Given the description of an element on the screen output the (x, y) to click on. 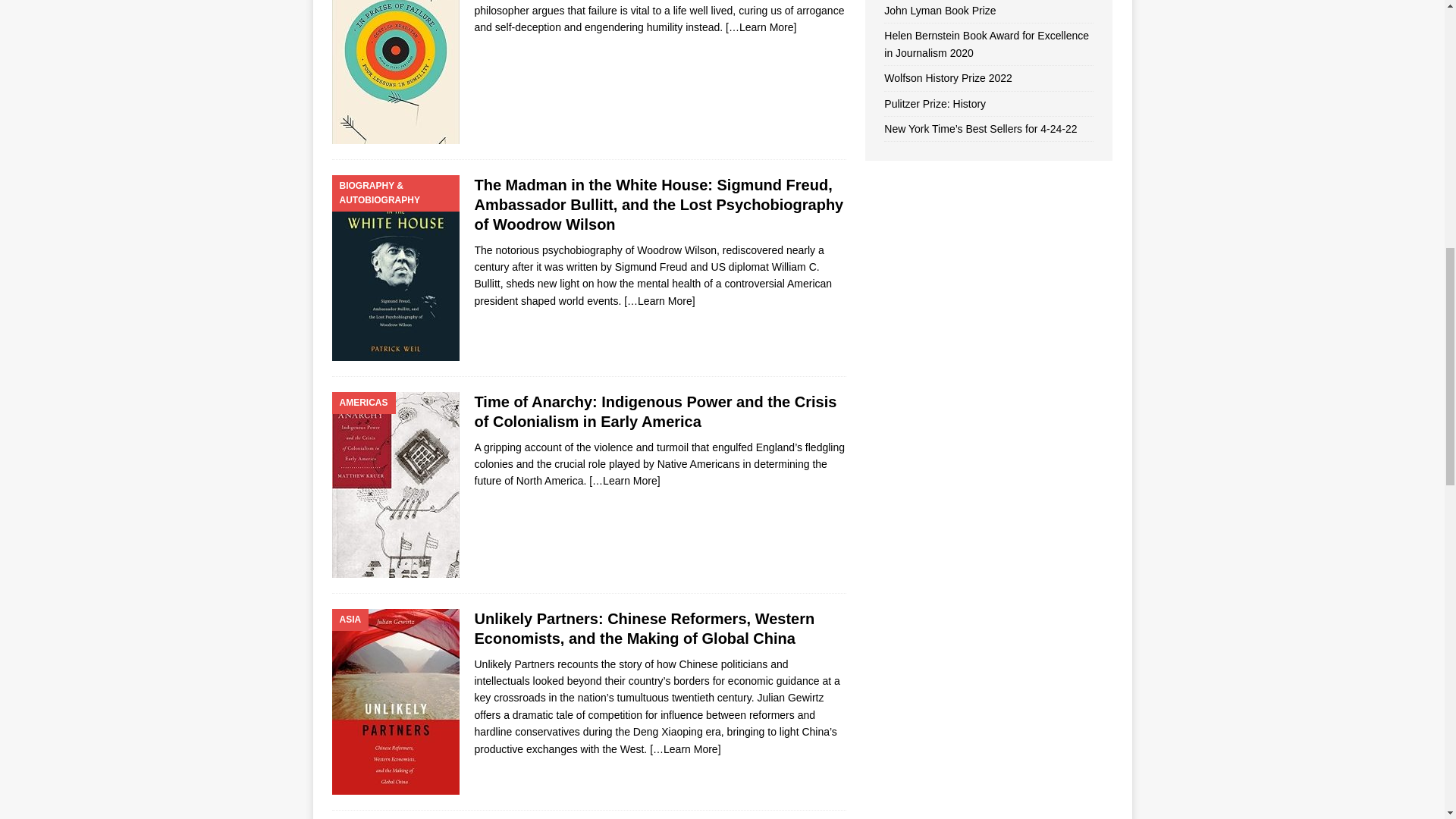
In Praise of Failure: Four Lessons in Humility (760, 27)
